Given the description of an element on the screen output the (x, y) to click on. 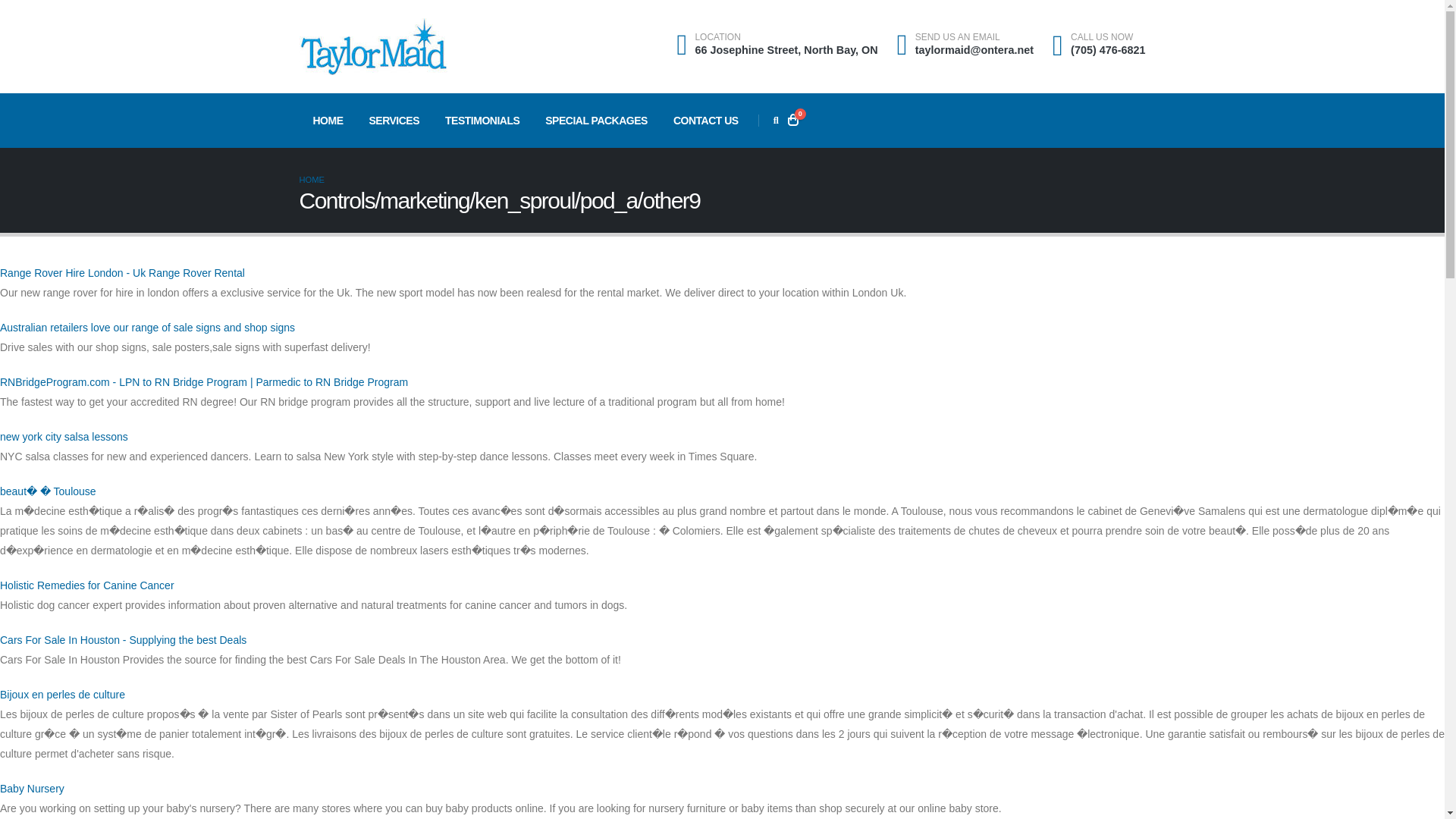
HOME (327, 120)
66 Josephine Street, North Bay, ON (785, 50)
Cars For Sale In Houston - Supplying the best Deals (123, 639)
SPECIAL PACKAGES (595, 120)
Bijoux en perles de culture (62, 694)
TESTIMONIALS (481, 120)
CONTACT US (706, 120)
HOME (311, 179)
new york city salsa lessons (64, 436)
Baby Nursery (32, 788)
Bijoux en perles de culture (62, 694)
Range Rover Hire London - Uk Range Rover Rental (122, 272)
Baby Nursery (32, 788)
new york city salsa lessons (64, 436)
